Given the description of an element on the screen output the (x, y) to click on. 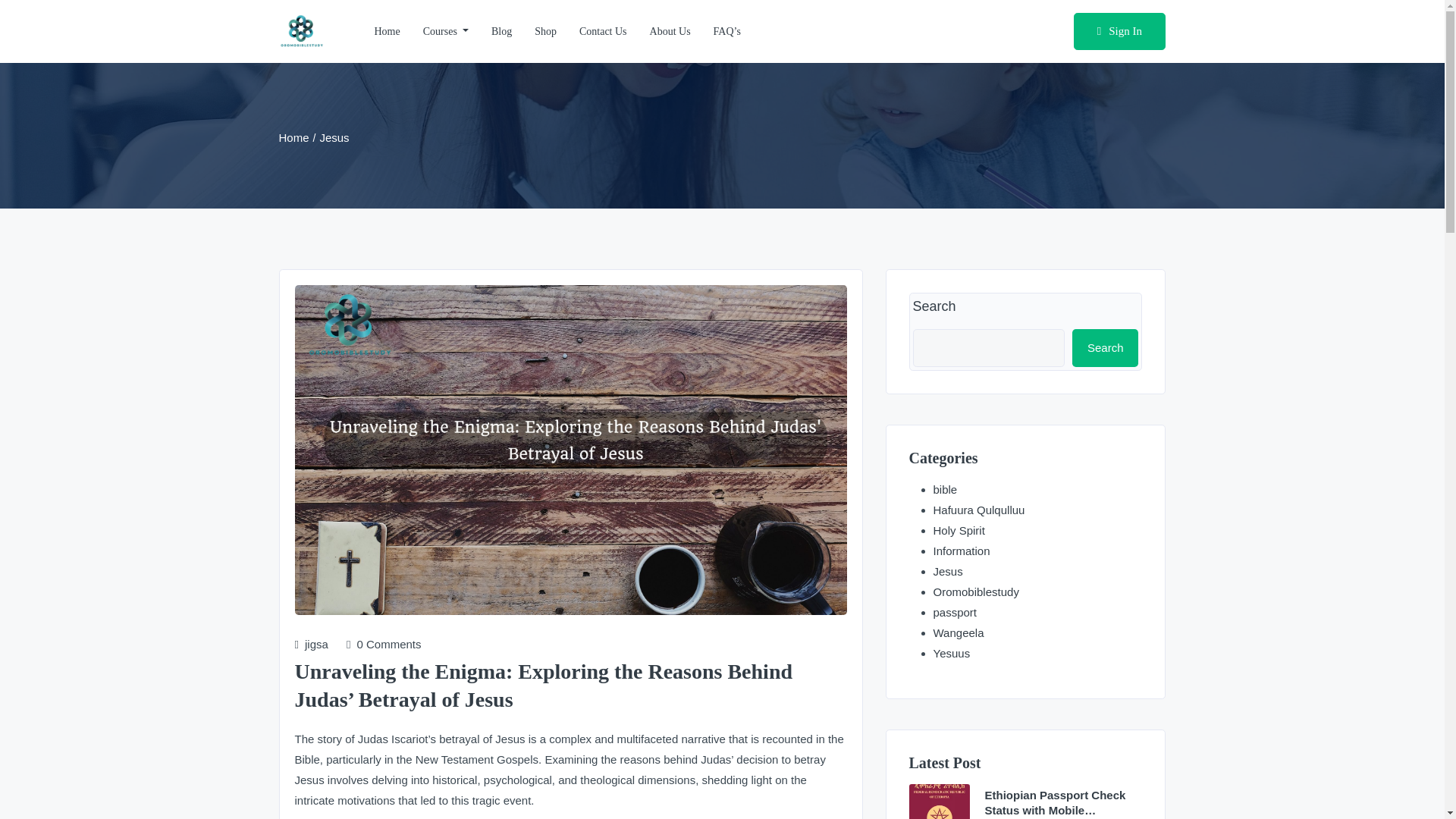
Oromobiblestudy (975, 591)
Jesus (947, 571)
Home (293, 137)
Search (1104, 347)
Courses (446, 31)
Sign In (1120, 31)
Information (961, 550)
Contact Us (603, 31)
About Us (670, 31)
jigsa (310, 643)
